Given the description of an element on the screen output the (x, y) to click on. 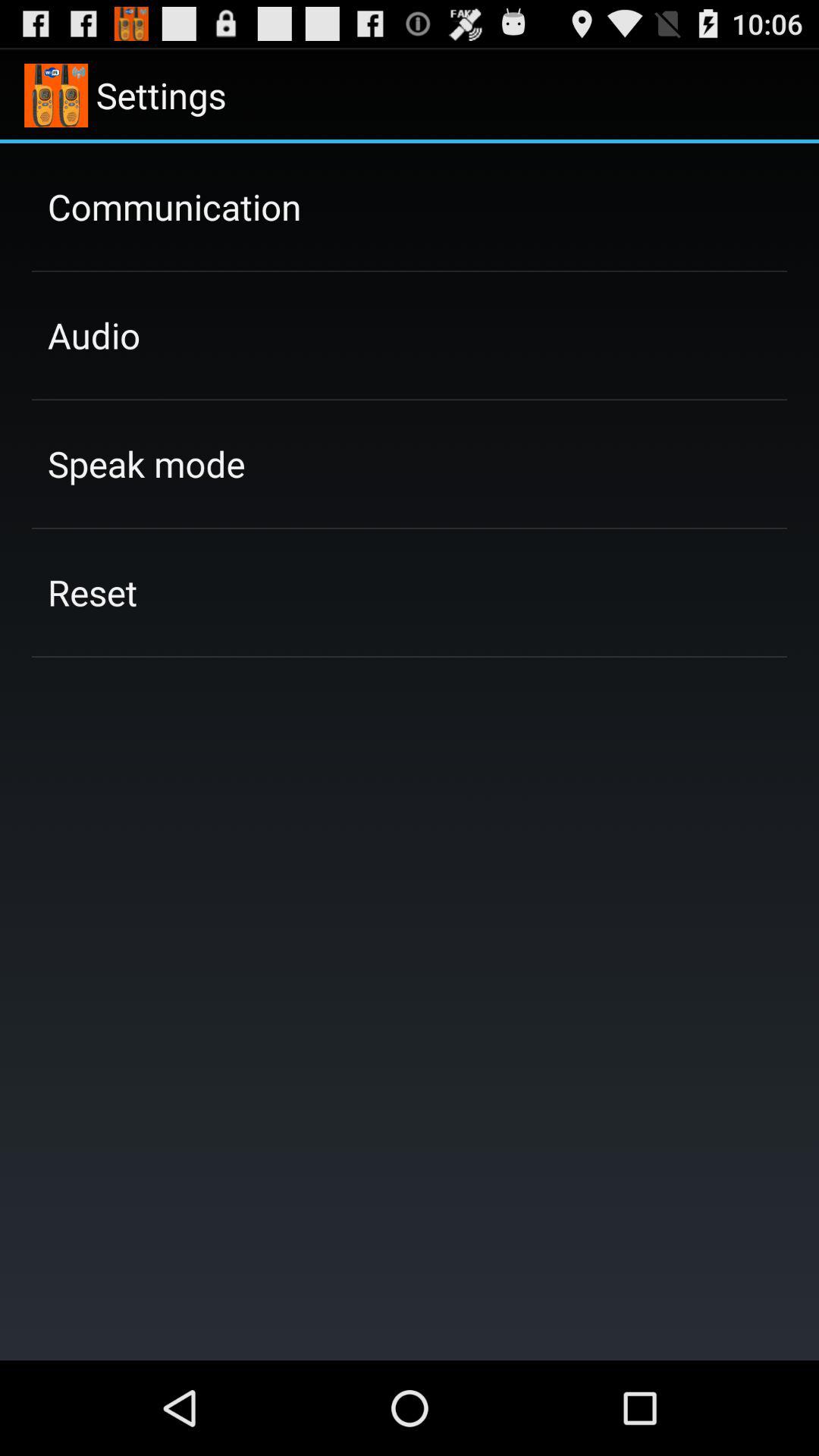
scroll to the audio app (93, 335)
